Given the description of an element on the screen output the (x, y) to click on. 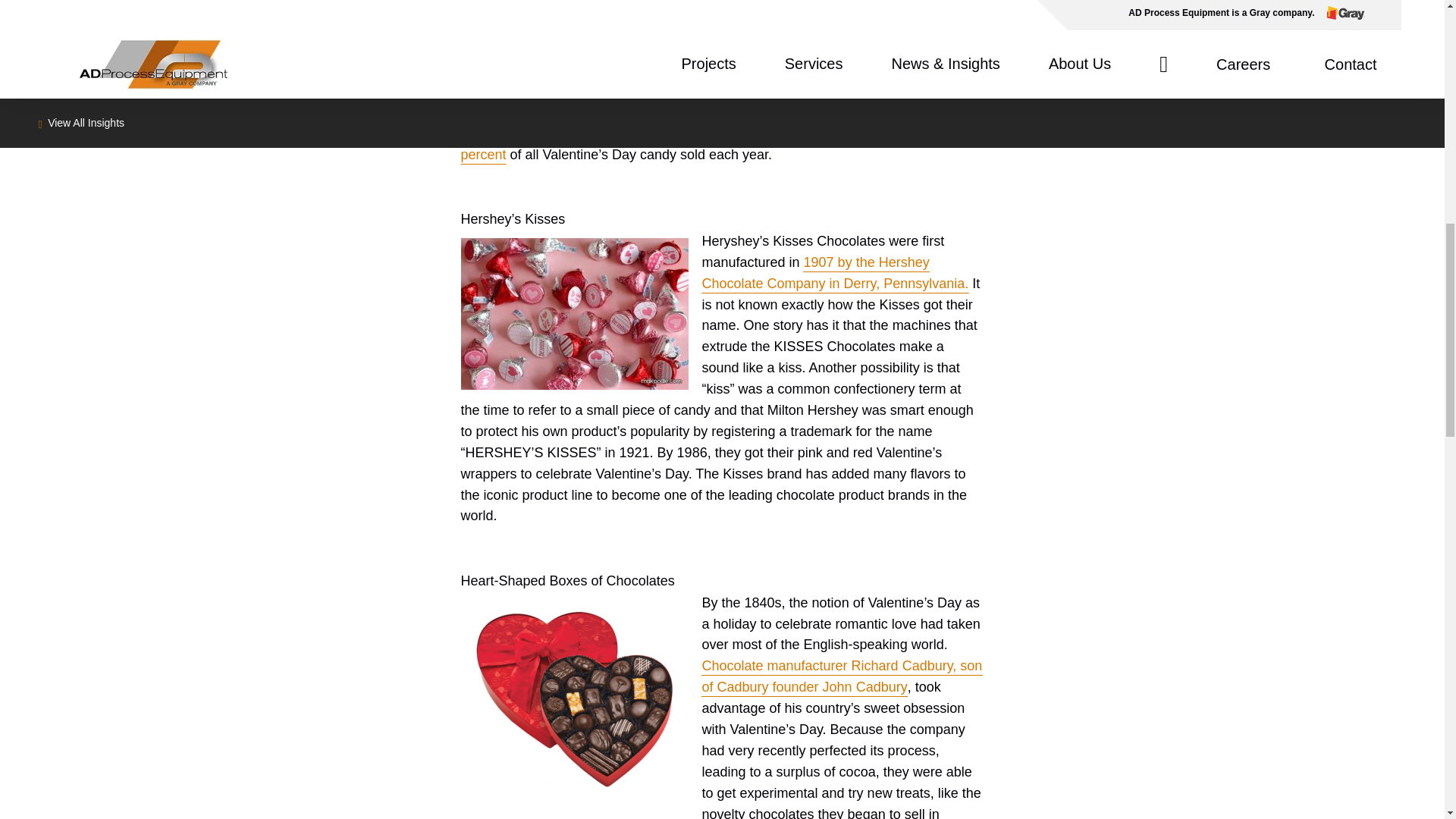
40 percent (715, 144)
